Given the description of an element on the screen output the (x, y) to click on. 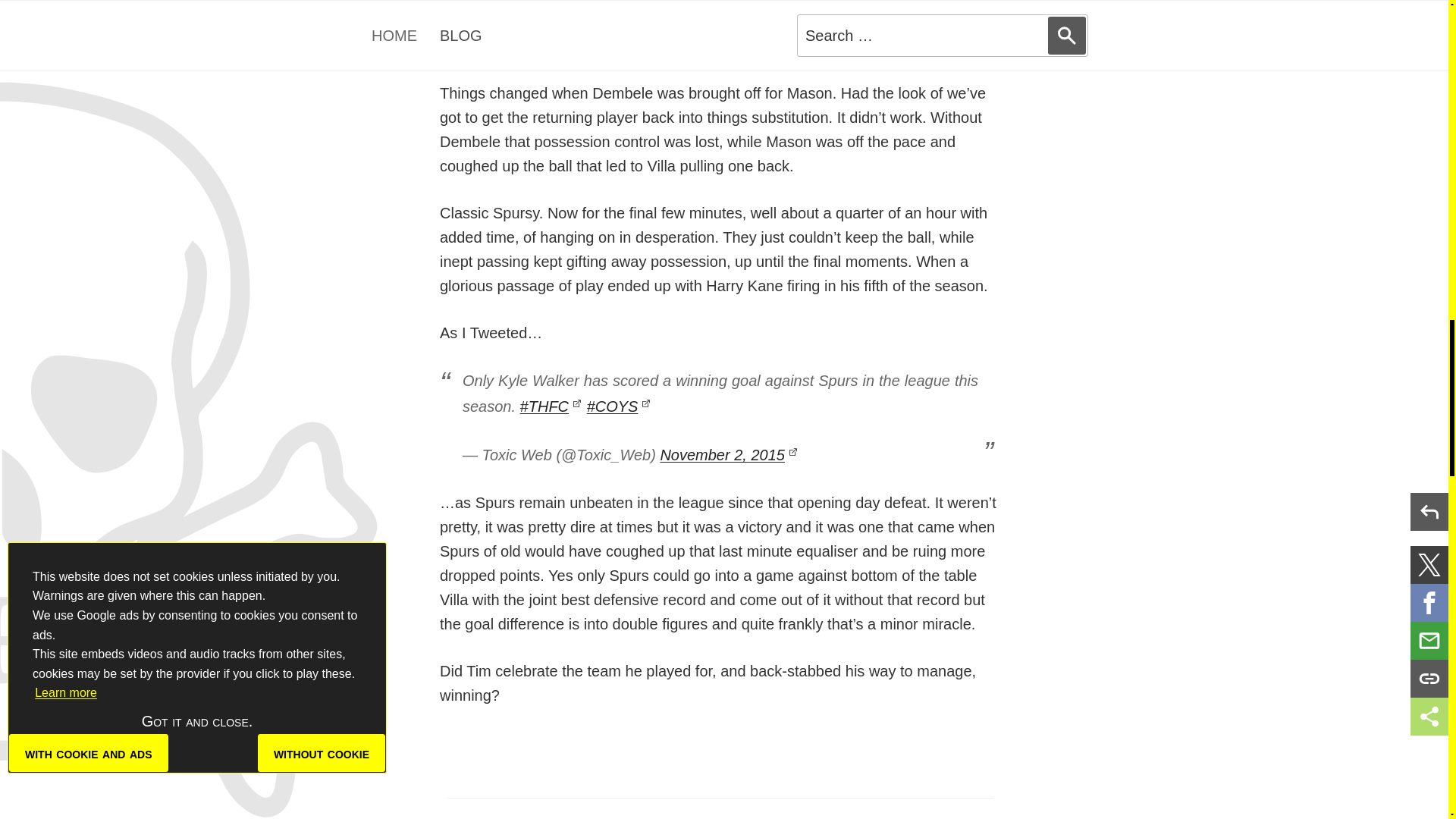
November 2, 2015 (728, 454)
